Given the description of an element on the screen output the (x, y) to click on. 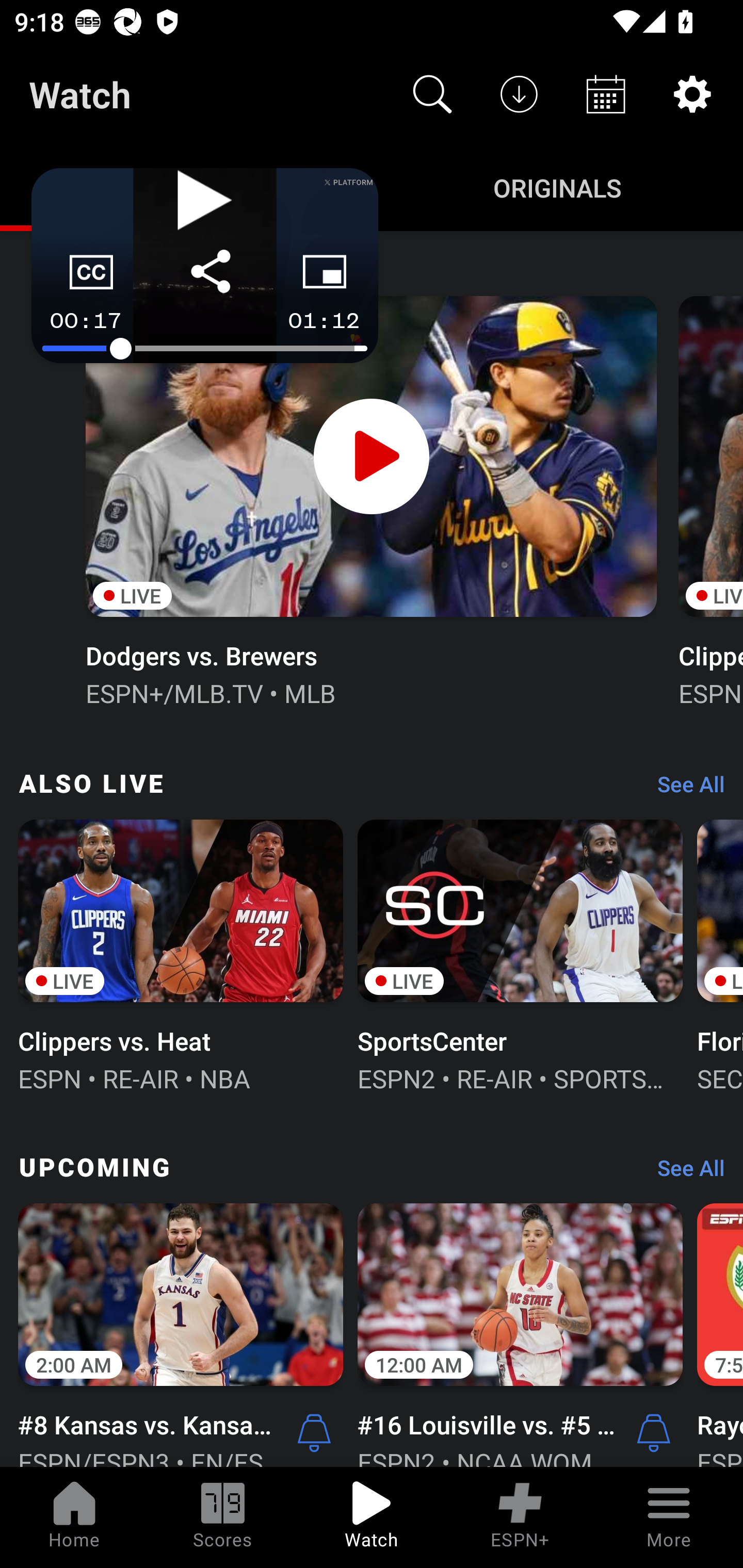
Search (432, 93)
Downloads (518, 93)
Schedule (605, 93)
Settings (692, 93)
Originals ORIGINALS (557, 187)
 LIVE Dodgers vs. Brewers ESPN+/MLB.TV • MLB (370, 499)
See All (683, 788)
LIVE Clippers vs. Heat ESPN • RE-AIR • NBA (180, 954)
LIVE SportsCenter ESPN2 • RE-AIR • SPORTSCENTER (519, 954)
See All (683, 1172)
Alerts (314, 1432)
Alerts (653, 1432)
Home (74, 1517)
Scores (222, 1517)
ESPN+ (519, 1517)
More (668, 1517)
